Given the description of an element on the screen output the (x, y) to click on. 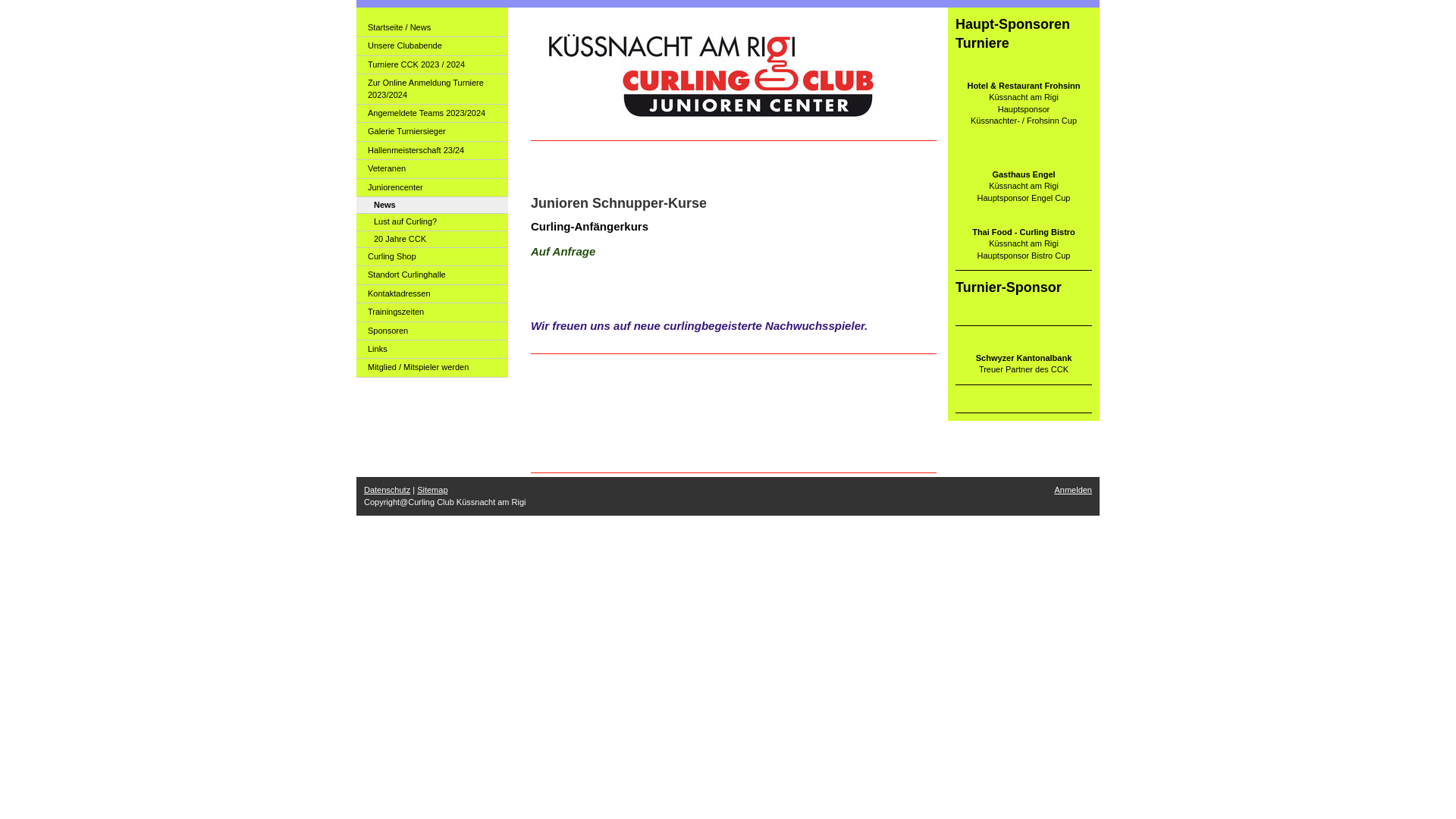
Curling Shop Element type: text (432, 256)
Startseite / News Element type: text (432, 27)
Kontaktadressen Element type: text (432, 294)
Zur Online Anmeldung Turniere 2023/2024 Element type: text (432, 89)
Angemeldete Teams 2023/2024 Element type: text (432, 113)
Standort Curlinghalle Element type: text (432, 275)
Turniere CCK 2023 / 2024 Element type: text (432, 65)
News Element type: text (432, 205)
Galerie Turniersieger Element type: text (432, 131)
Veteranen Element type: text (432, 169)
Unsere Clubabende Element type: text (432, 46)
Mitglied / Mitspieler werden Element type: text (432, 367)
20 Jahre CCK Element type: text (432, 239)
Anmelden Element type: text (1073, 489)
Juniorencenter Element type: text (432, 187)
Hallenmeisterschaft 23/24 Element type: text (432, 150)
Trainingszeiten Element type: text (432, 312)
Sitemap Element type: text (432, 489)
Datenschutz Element type: text (387, 489)
Lust auf Curling? Element type: text (432, 221)
Sponsoren Element type: text (432, 331)
Links Element type: text (432, 349)
